Given the description of an element on the screen output the (x, y) to click on. 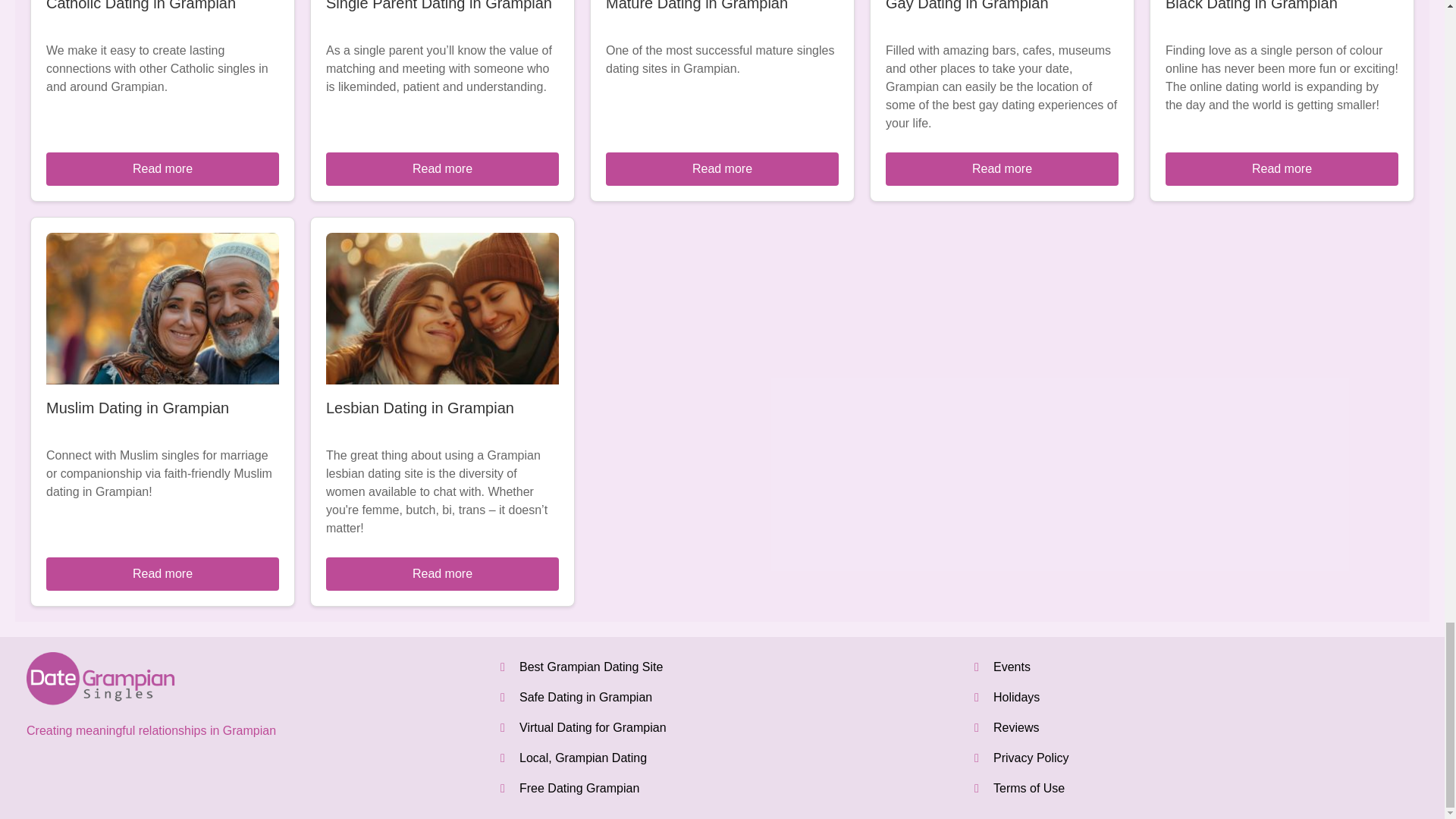
Read more (442, 168)
Privacy Policy (1030, 757)
Read more (721, 168)
Read more (162, 573)
Holidays (1015, 697)
Reviews (1015, 727)
Read more (162, 168)
Local, Grampian Dating (582, 757)
Read more (1001, 168)
Events (1011, 666)
Read more (1281, 168)
Virtual Dating for Grampian (592, 727)
Safe Dating in Grampian (585, 697)
Terms of Use (1028, 788)
Best Grampian Dating Site (590, 666)
